Given the description of an element on the screen output the (x, y) to click on. 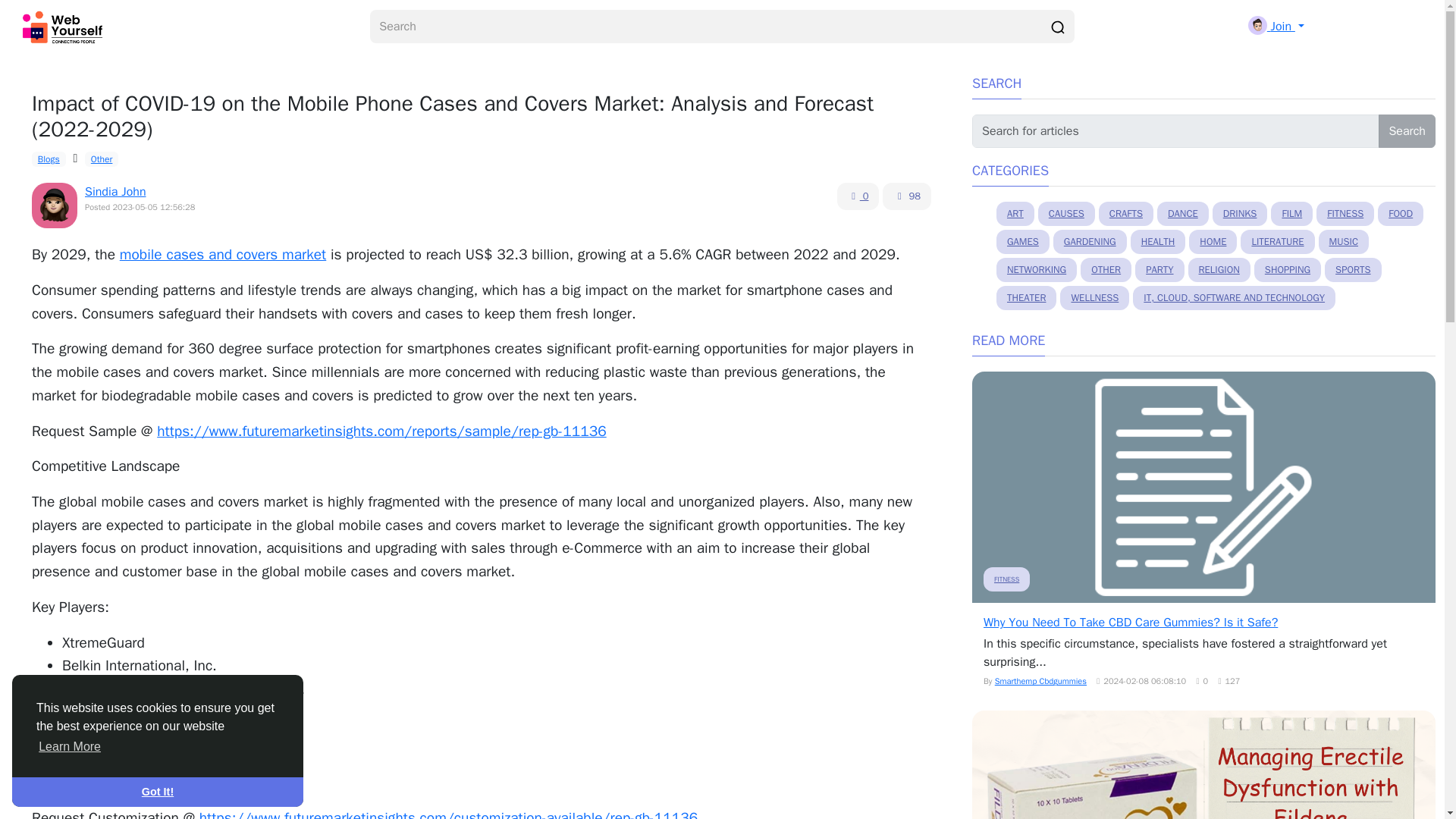
Join (1276, 26)
CRAFTS (1126, 213)
DRINKS (1240, 213)
ART (1014, 213)
Learn More (69, 746)
mobile cases and covers market (222, 254)
Webyourself Social Media Platform (65, 27)
0 (858, 195)
Sindia John (115, 191)
FILM (1292, 213)
DANCE (1182, 213)
FITNESS (1345, 213)
CAUSES (1066, 213)
Search (1406, 131)
Other (100, 159)
